Given the description of an element on the screen output the (x, y) to click on. 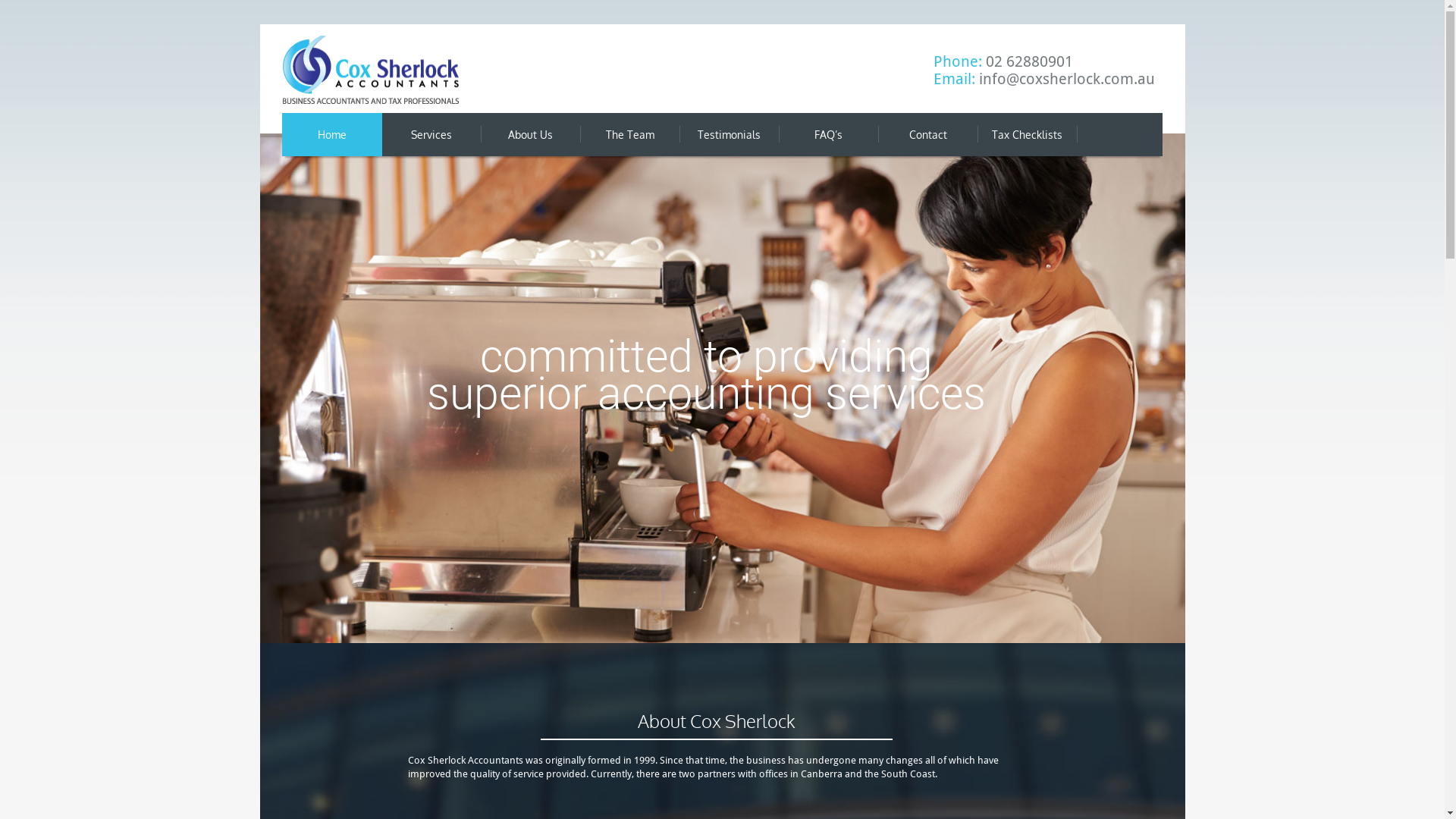
Services Element type: text (430, 134)
Tax Checklists Element type: text (1026, 134)
Contact Element type: text (928, 134)
About Us Element type: text (530, 134)
The Team Element type: text (629, 134)
Home Element type: text (332, 134)
Cox Sherlock Accounting Element type: hover (370, 69)
Testimonials Element type: text (729, 134)
